Given the description of an element on the screen output the (x, y) to click on. 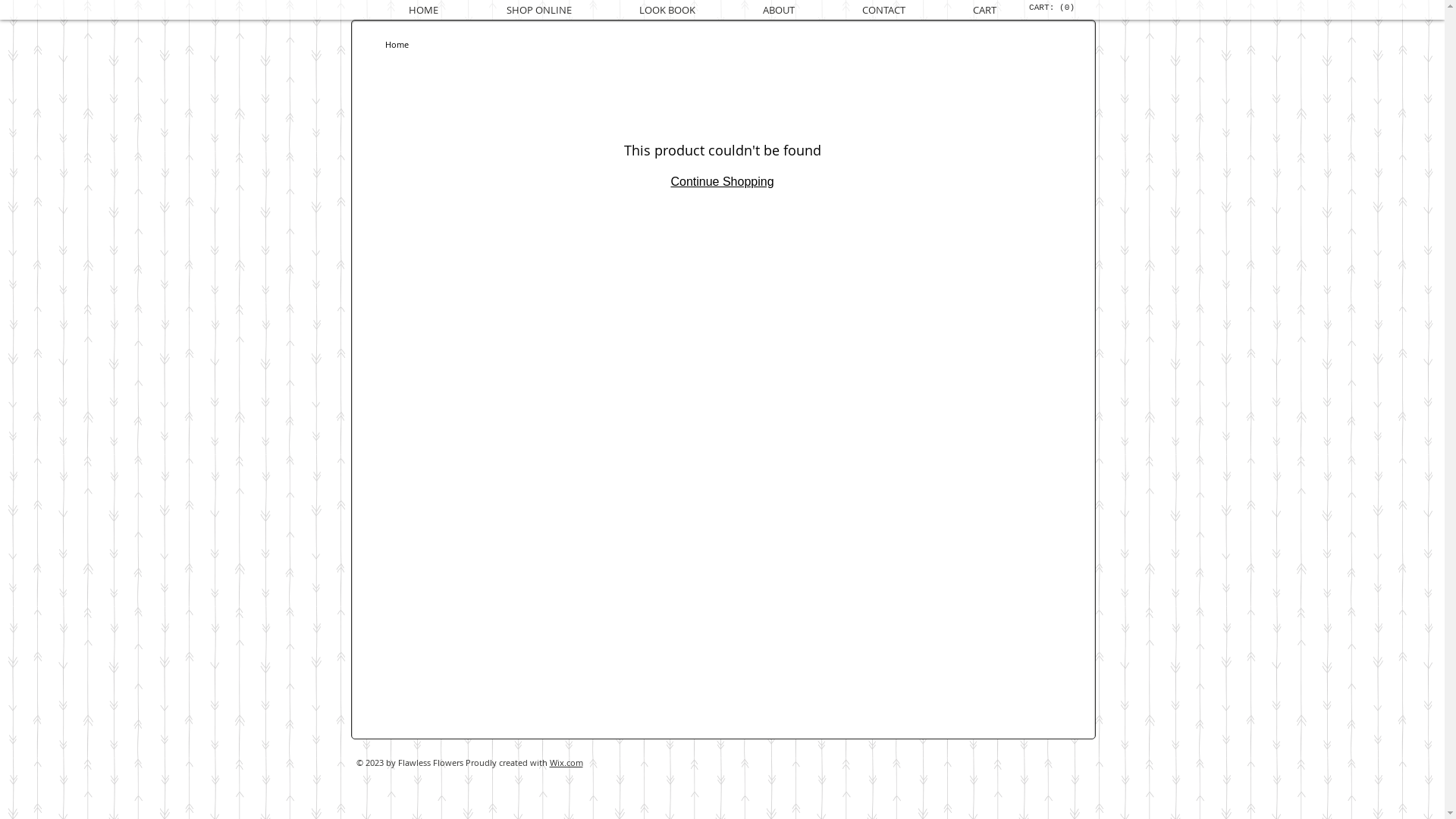
SHOP ONLINE Element type: text (538, 9)
CART Element type: text (983, 9)
ABOUT Element type: text (778, 9)
Continue Shopping Element type: text (721, 181)
Wix.com Element type: text (565, 762)
CART: (0) Element type: text (1050, 7)
LOOK BOOK Element type: text (666, 9)
Home Element type: text (396, 44)
HOME Element type: text (423, 9)
CONTACT Element type: text (883, 9)
